Given the description of an element on the screen output the (x, y) to click on. 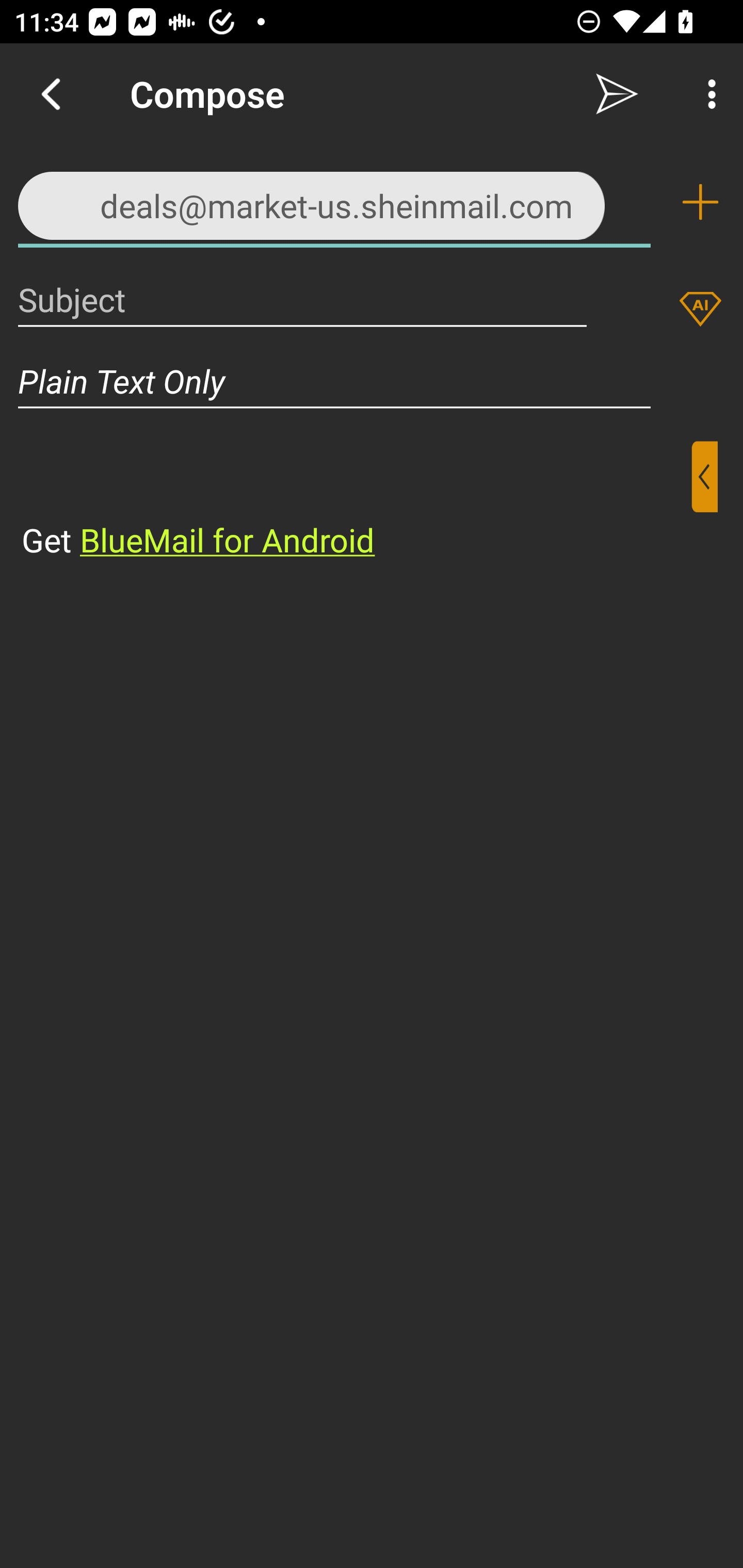
Navigate up (50, 93)
Send (616, 93)
More Options (706, 93)
<deals@market-us.sheinmail.com>,  (334, 201)
Add recipient (To) (699, 201)
Subject (302, 299)
Plain Text Only (371, 380)


⁣Get BlueMail for Android ​ (355, 501)
